Given the description of an element on the screen output the (x, y) to click on. 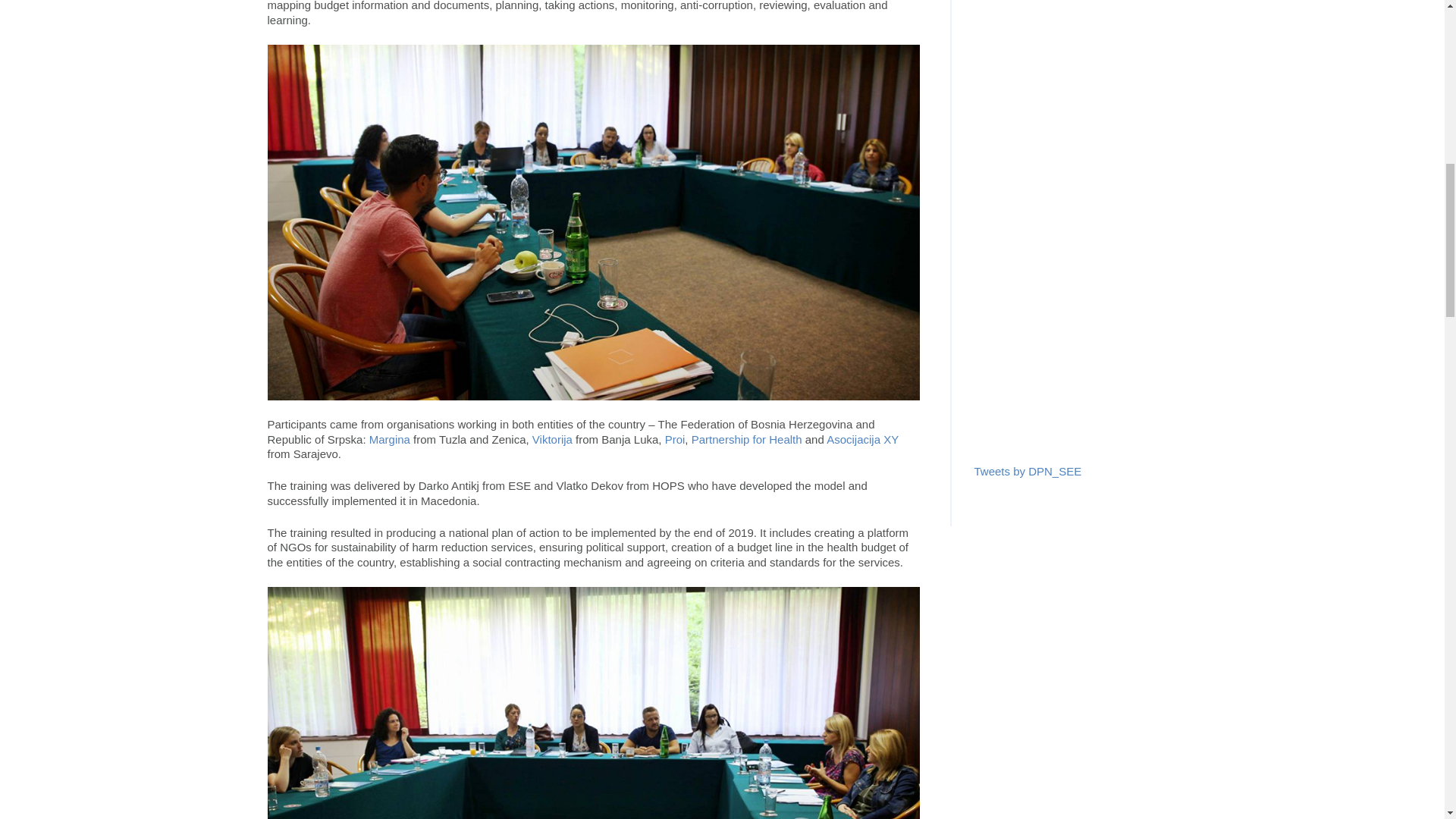
Viktorija (552, 439)
Proi (675, 439)
Asocijacija XY (862, 439)
Margina (389, 439)
Partnership for Health (746, 439)
